Given the description of an element on the screen output the (x, y) to click on. 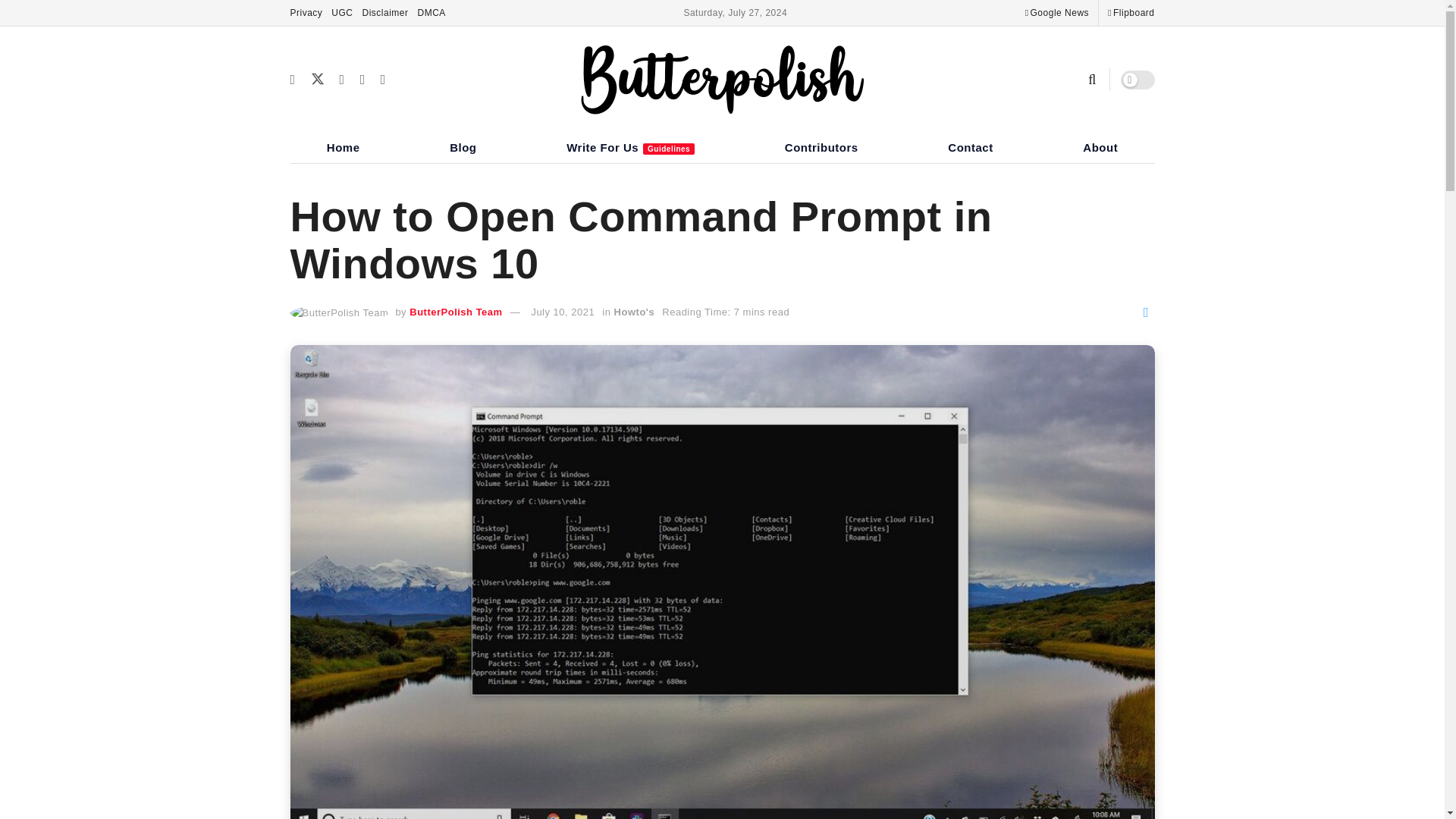
DMCA (431, 12)
Contributors (821, 146)
July 10, 2021 (562, 311)
Write For UsGuidelines (630, 146)
Google News (1057, 12)
About (1100, 146)
ButterPolish Team (455, 311)
Blog (463, 146)
Contact (970, 146)
Disclaimer (385, 12)
Howto's (634, 311)
Home (342, 146)
Privacy (305, 12)
Flipboard (1131, 12)
